Given the description of an element on the screen output the (x, y) to click on. 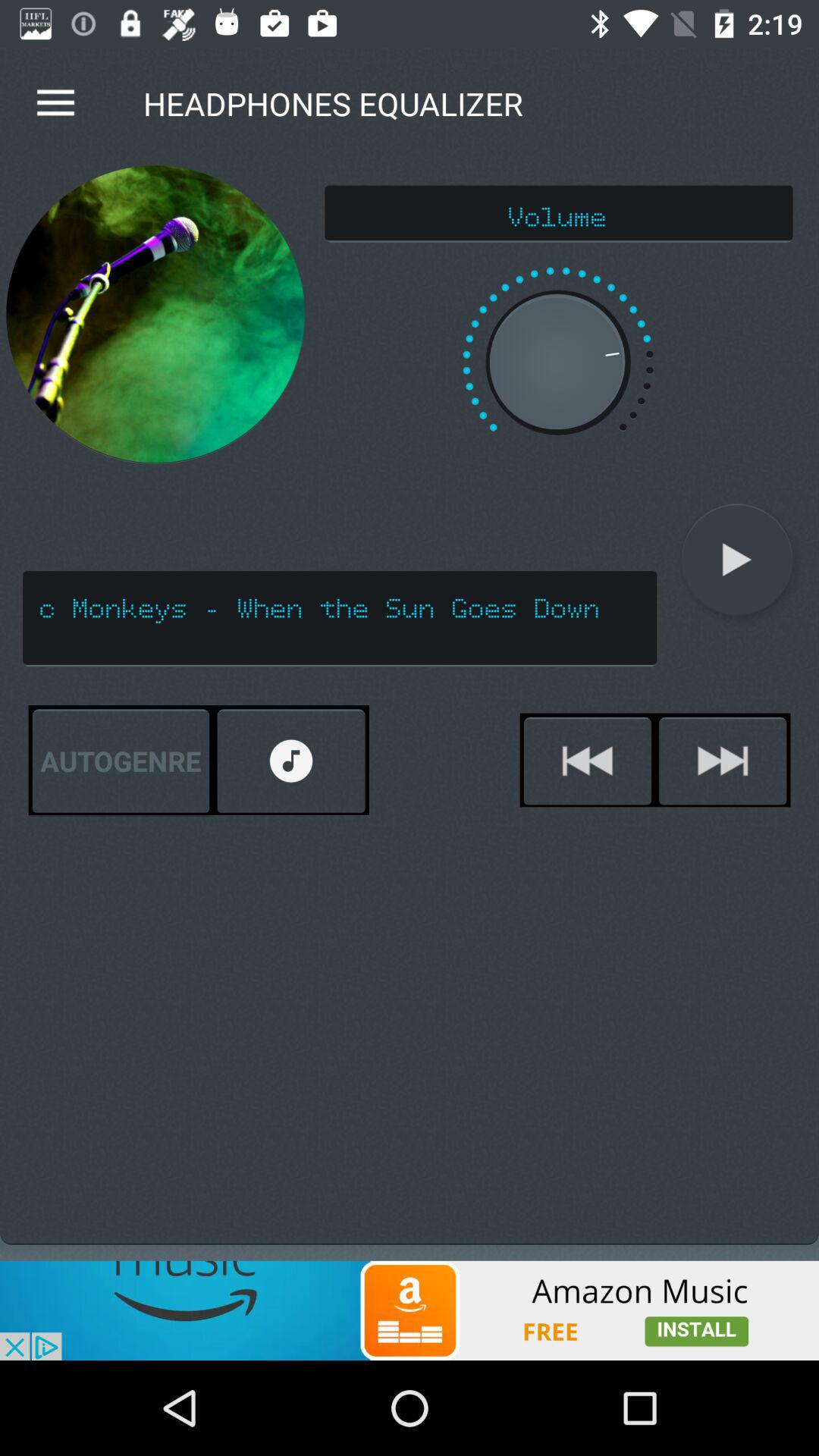
select the item to the right of the autogenre (291, 760)
